Given the description of an element on the screen output the (x, y) to click on. 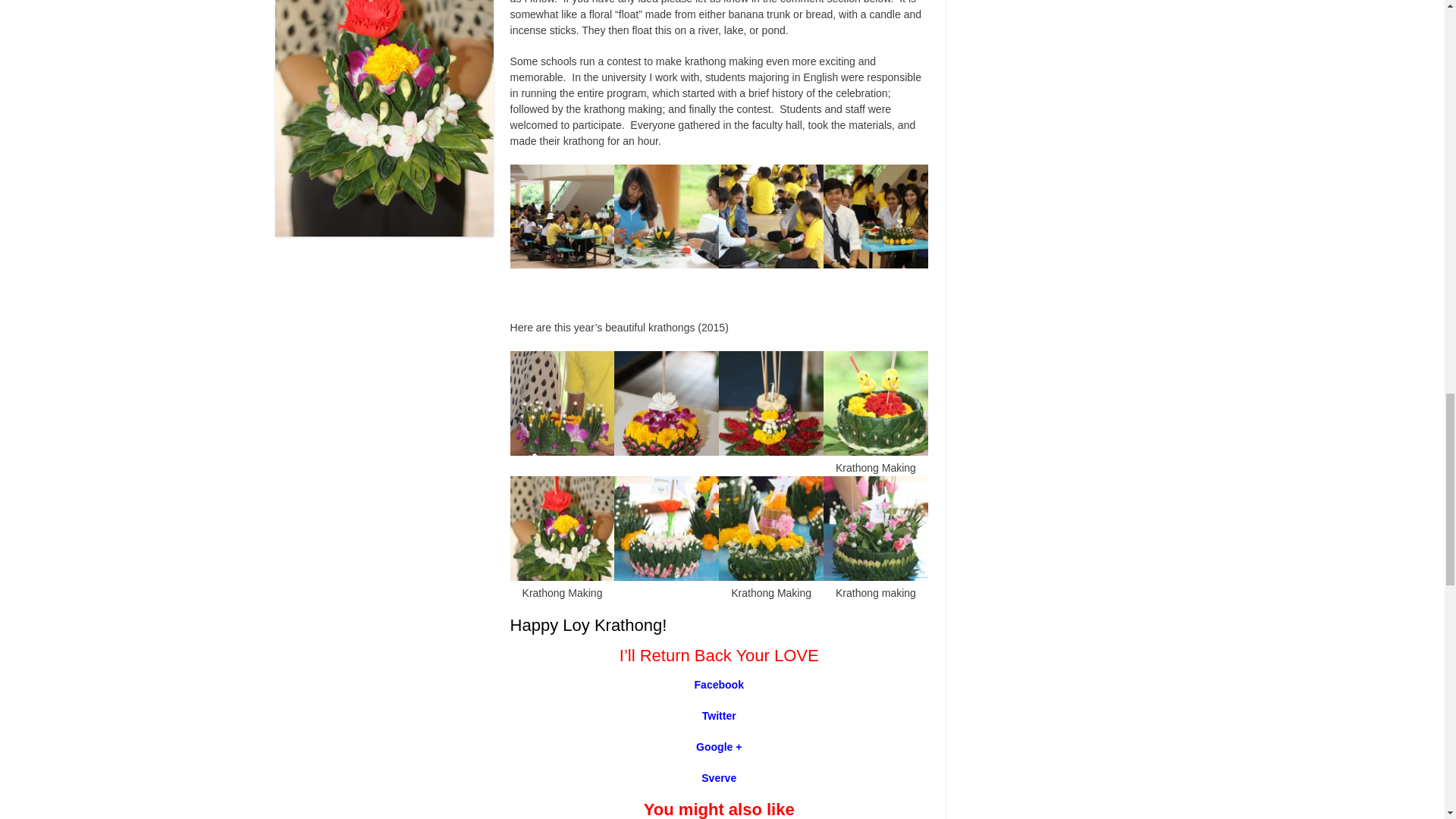
endorse me (718, 777)
mitchryan (718, 746)
Mitchryan23 (718, 715)
MitchRyan's Blog fan Page (719, 684)
